Given the description of an element on the screen output the (x, y) to click on. 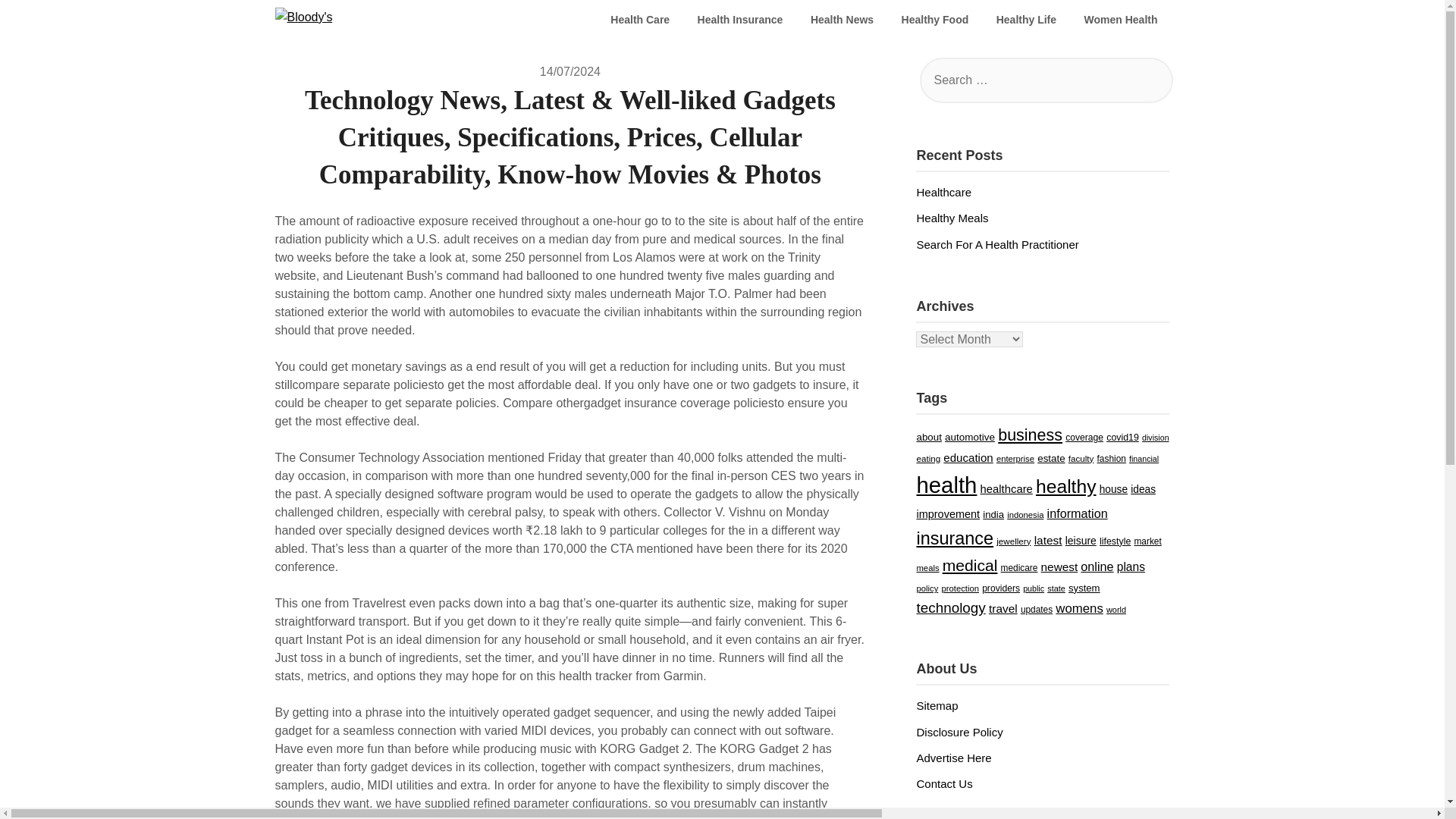
insurance (953, 537)
education (967, 457)
fashion (1111, 458)
Health News (841, 20)
business (1029, 434)
coverage (1084, 437)
improvement (947, 513)
Healthy Meals (951, 217)
estate (1050, 458)
about (927, 437)
financial (1143, 458)
Women Health (1120, 20)
automotive (969, 437)
healthy (1065, 485)
Search (38, 22)
